Given the description of an element on the screen output the (x, y) to click on. 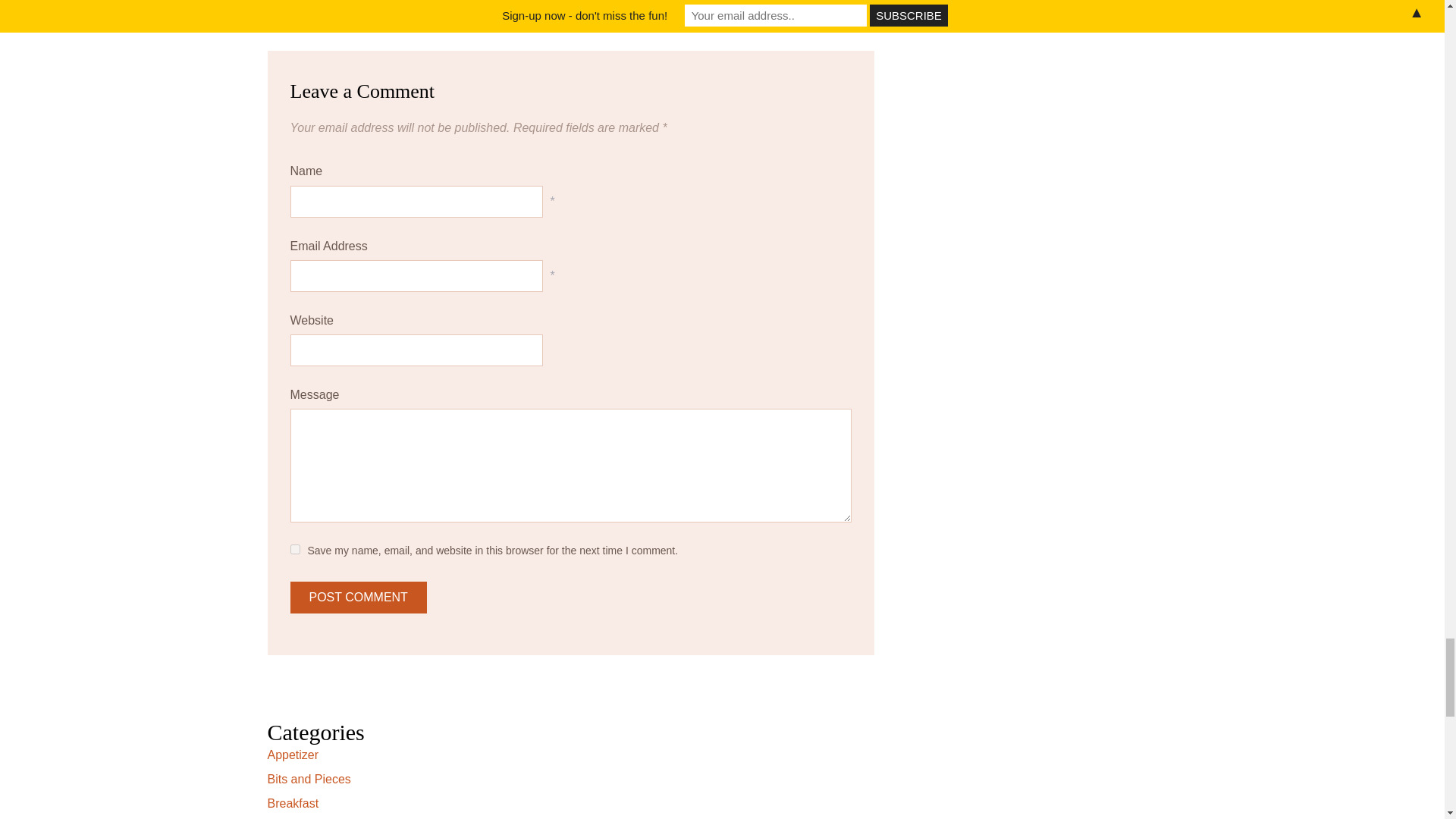
Gluten Free Pressure Cooker Creamy Spicy Soup (635, 2)
Post Comment (357, 597)
yes (294, 549)
